Given the description of an element on the screen output the (x, y) to click on. 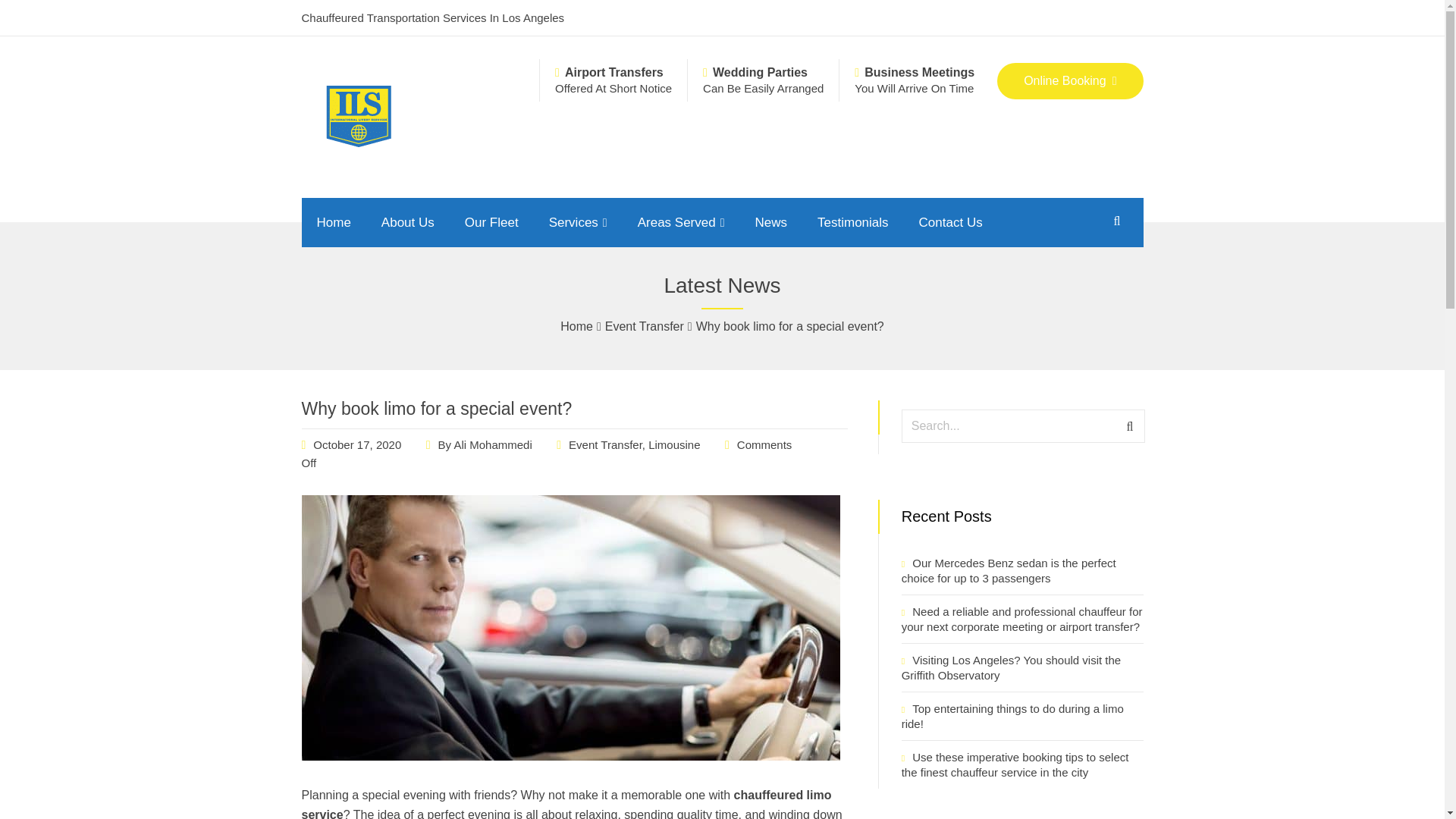
About Us (407, 222)
Search... (1022, 426)
Services (578, 222)
Why book limo for a special event? (436, 408)
Areas Served (681, 222)
Online Booking (1069, 81)
Why book limo for a special event? (570, 756)
Why book limo for a special event? (357, 444)
Home (333, 222)
Posts by Ali Mohammedi (491, 444)
